Given the description of an element on the screen output the (x, y) to click on. 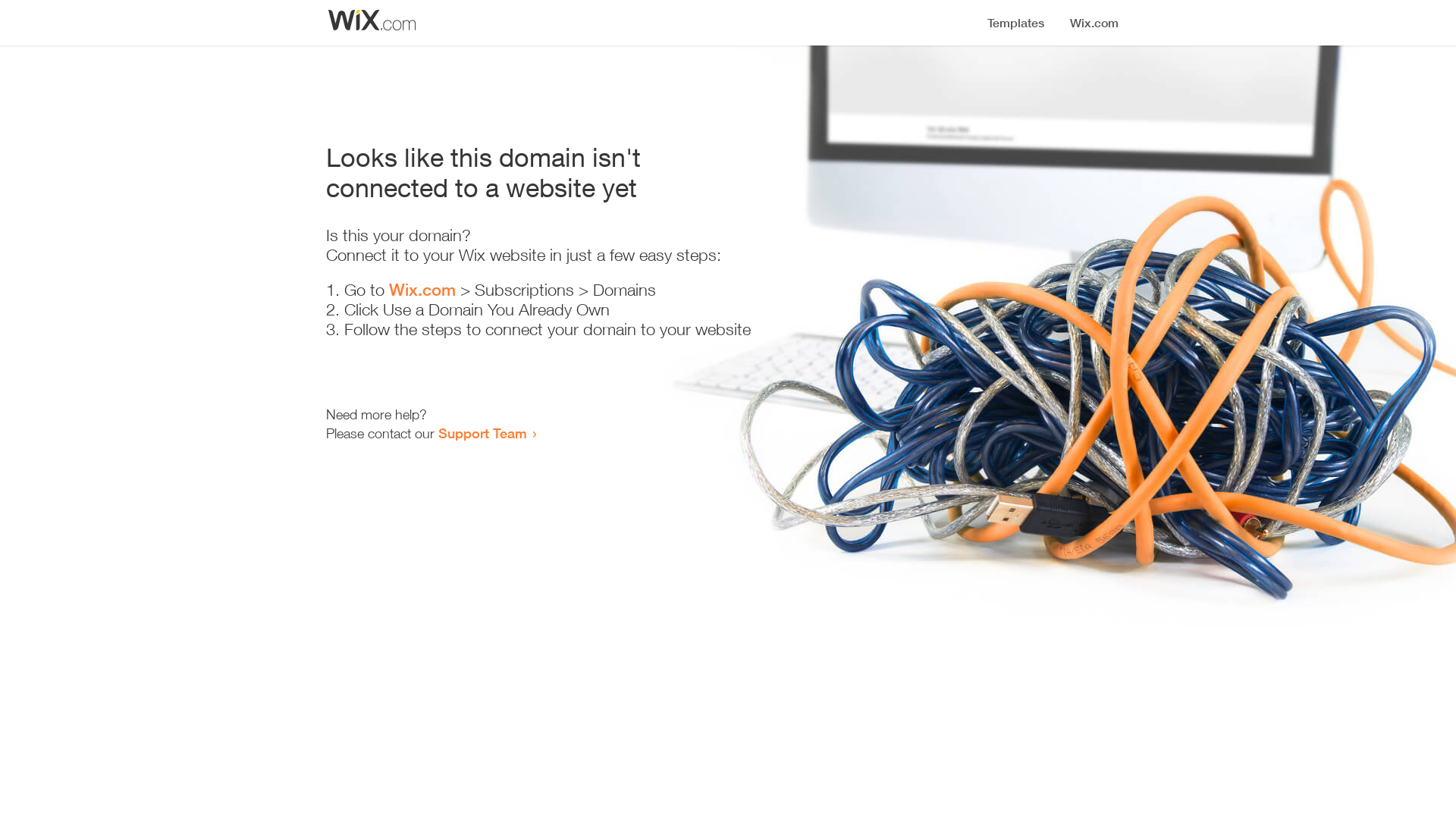
Support Team Element type: text (482, 432)
Wix.com Element type: text (422, 289)
